Given the description of an element on the screen output the (x, y) to click on. 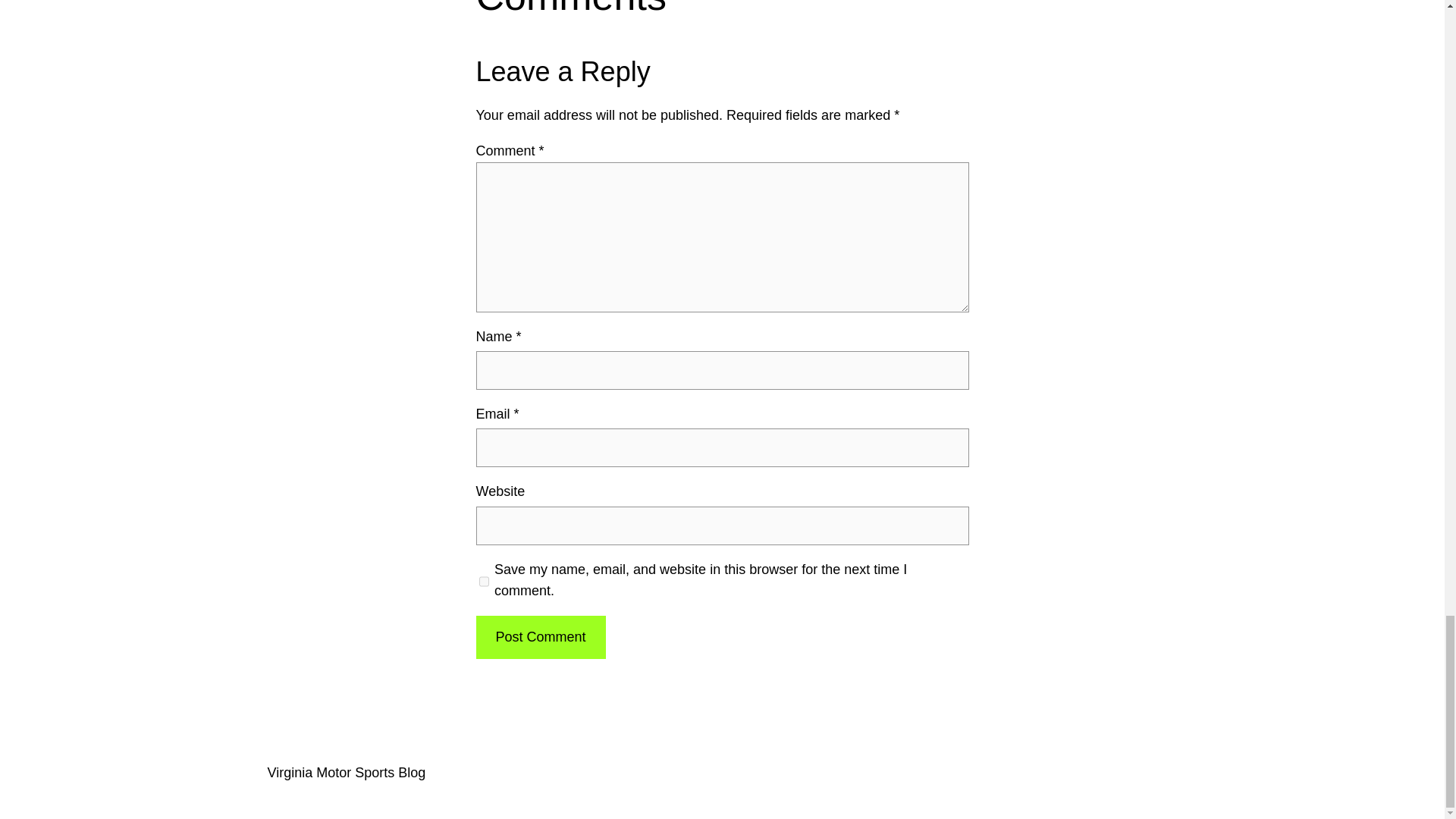
Virginia Motor Sports Blog (345, 772)
Post Comment (540, 637)
Post Comment (540, 637)
